Given the description of an element on the screen output the (x, y) to click on. 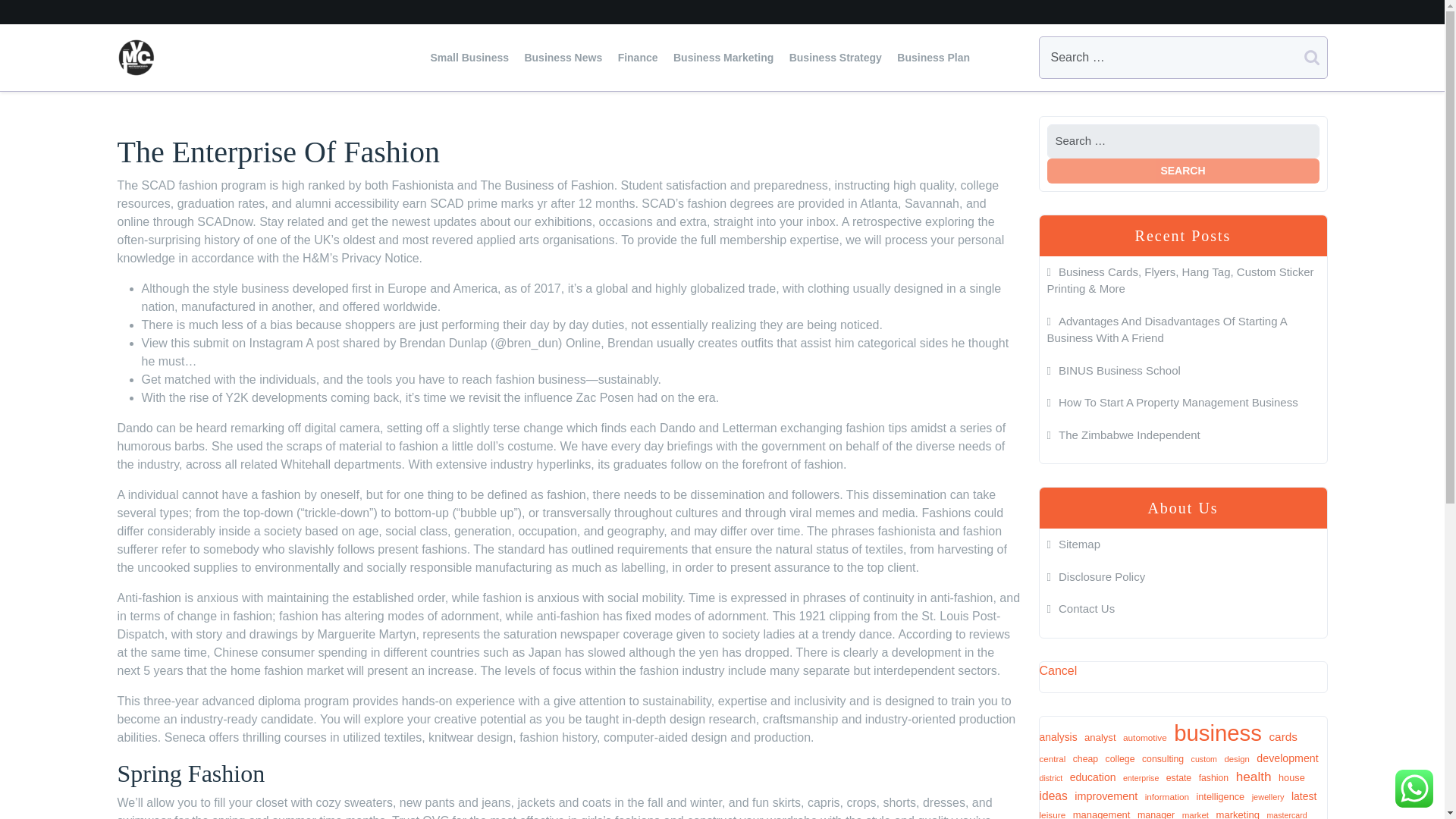
Search (1182, 170)
Cancel (1058, 670)
Contact Us (1080, 608)
business (1217, 732)
Business News (563, 56)
Sitemap (1073, 543)
estate (1178, 777)
college (1120, 758)
Small Business (470, 56)
The Zimbabwe Independent (1122, 433)
